Given the description of an element on the screen output the (x, y) to click on. 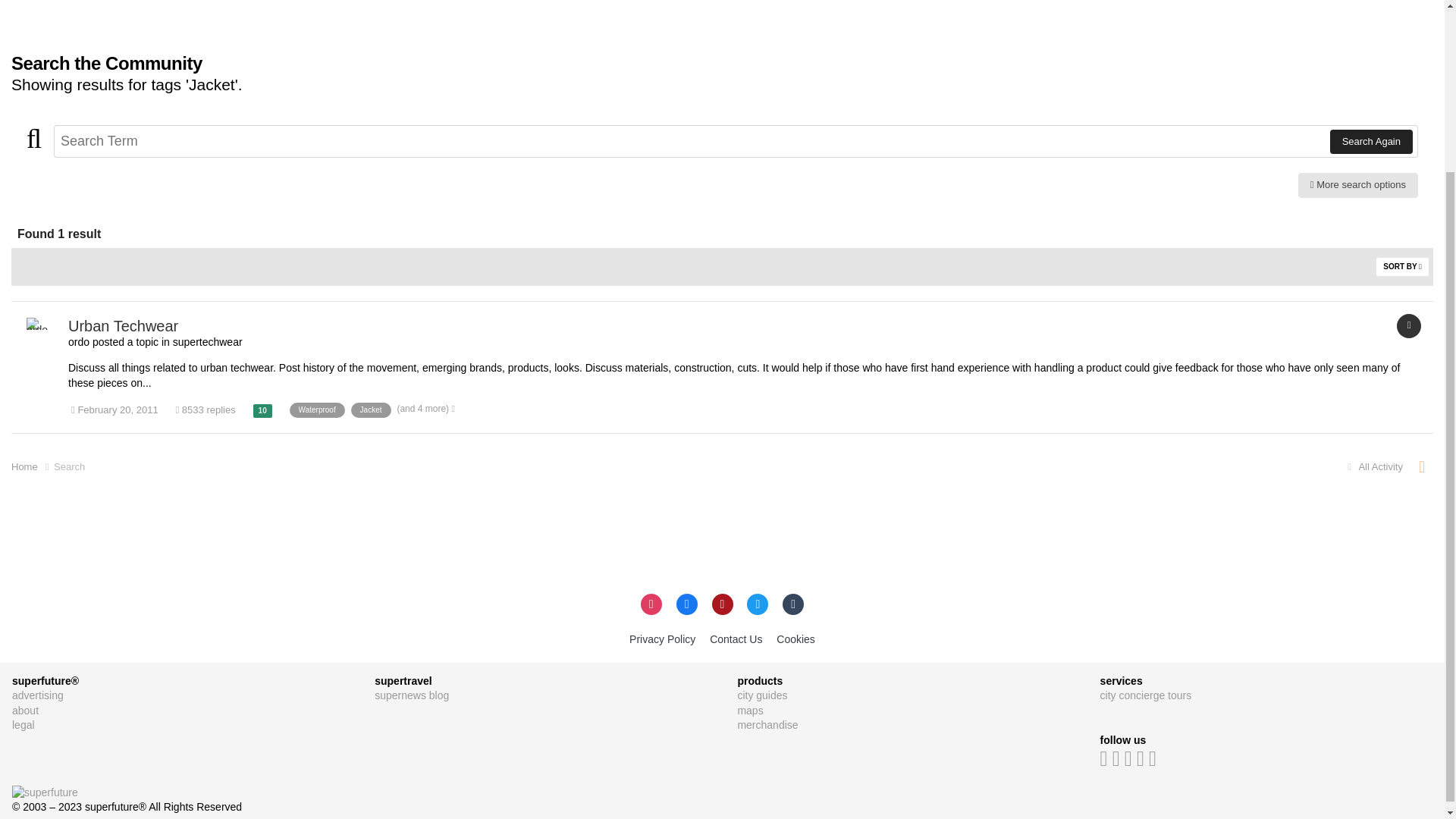
Topic (1408, 325)
Go to ordo's profile (78, 341)
Find other content tagged with 'Jacket' (370, 409)
3rd party ad content (287, 18)
Go to ordo's profile (42, 333)
Find other content tagged with 'Waterproof' (317, 409)
